Given the description of an element on the screen output the (x, y) to click on. 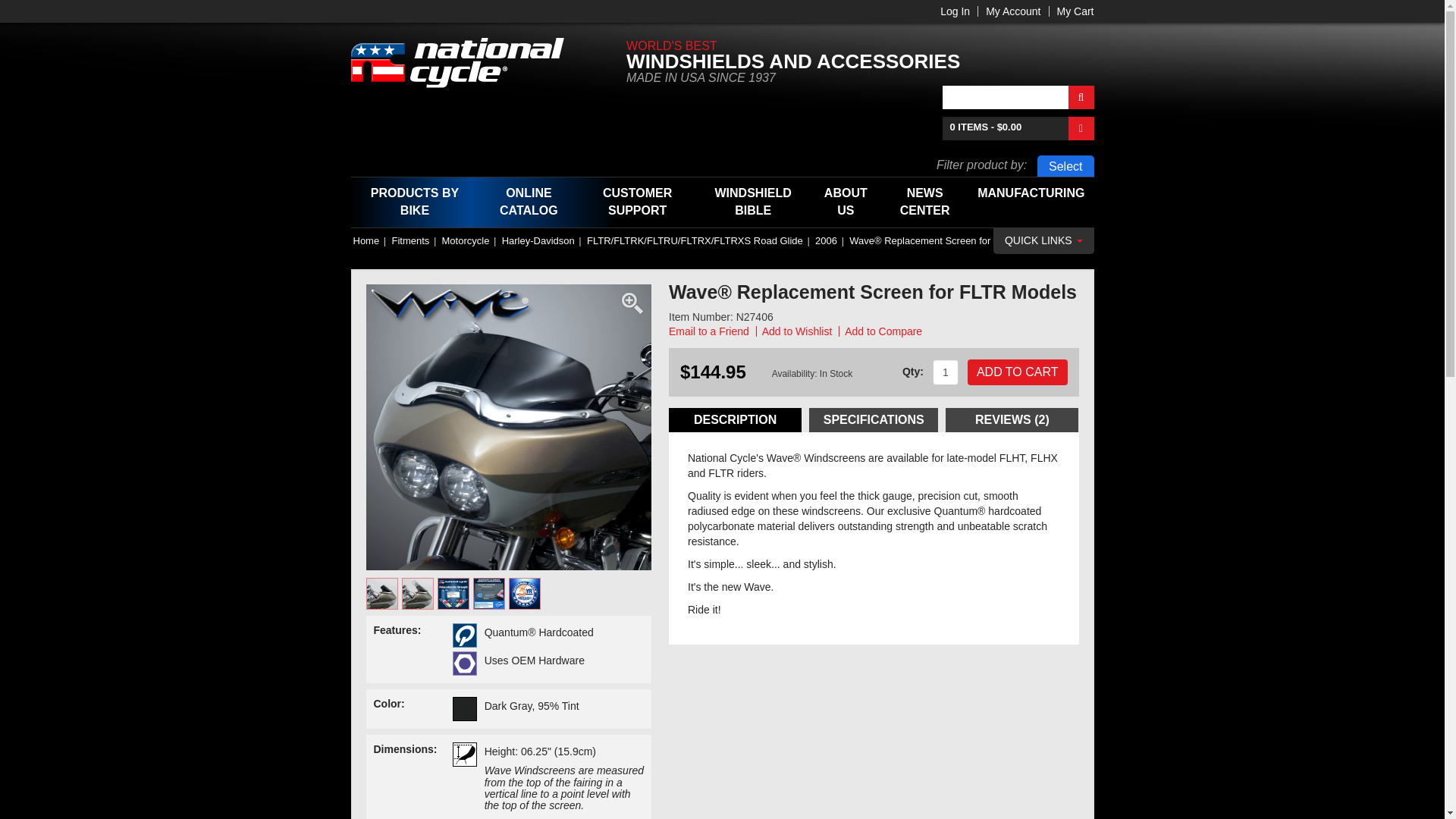
National Cycle (467, 62)
My Account (1013, 10)
Go to Home Page (366, 240)
Select (1064, 165)
Log In (954, 10)
My Cart (1075, 10)
Qty (945, 371)
My Account (1013, 10)
Search (1080, 96)
1 (945, 371)
My Cart (1075, 10)
PRODUCTS BY BIKE (414, 202)
Log In (954, 10)
National Cycle (467, 62)
ONLINE CATALOG (528, 202)
